Given the description of an element on the screen output the (x, y) to click on. 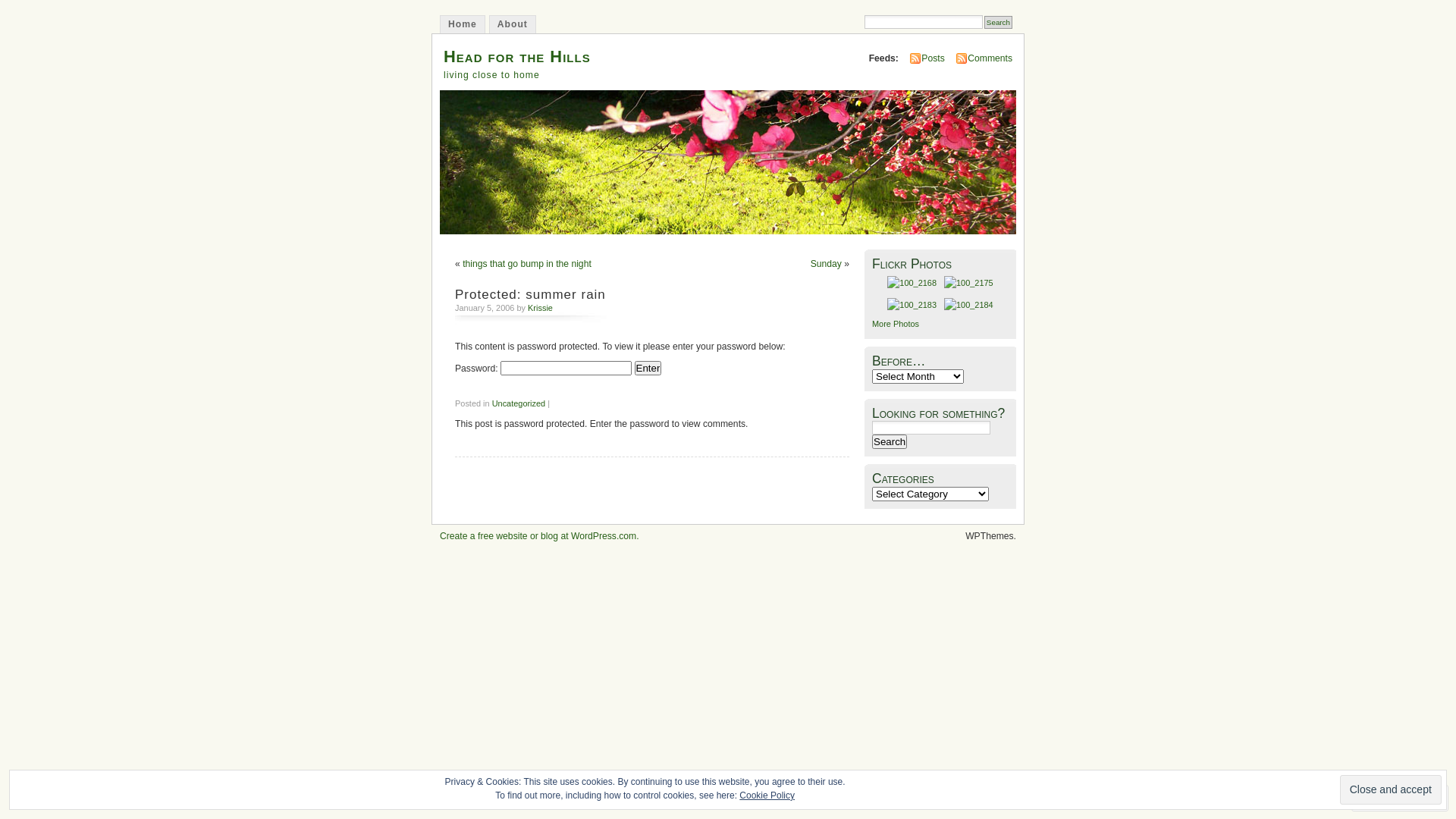
Comments Element type: text (989, 58)
Cookie Policy Element type: text (766, 795)
Krissie Element type: text (539, 307)
About Element type: text (512, 24)
Head for the Hills Element type: text (516, 56)
Follow Element type: text (1385, 797)
Create a free website or blog at WordPress.com. Element type: text (539, 535)
100_2183 Element type: hover (911, 305)
things that go bump in the night Element type: text (526, 263)
Sunday Element type: text (825, 263)
100_2184 Element type: hover (968, 305)
Home Element type: text (462, 24)
Search Element type: text (889, 441)
Close and accept Element type: text (1390, 789)
100_2175 Element type: hover (968, 283)
100_2168 Element type: hover (911, 283)
Uncategorized Element type: text (519, 402)
Enter Element type: text (648, 367)
Posts Element type: text (932, 58)
Search Element type: text (998, 21)
More Photos Element type: text (895, 323)
